Given the description of an element on the screen output the (x, y) to click on. 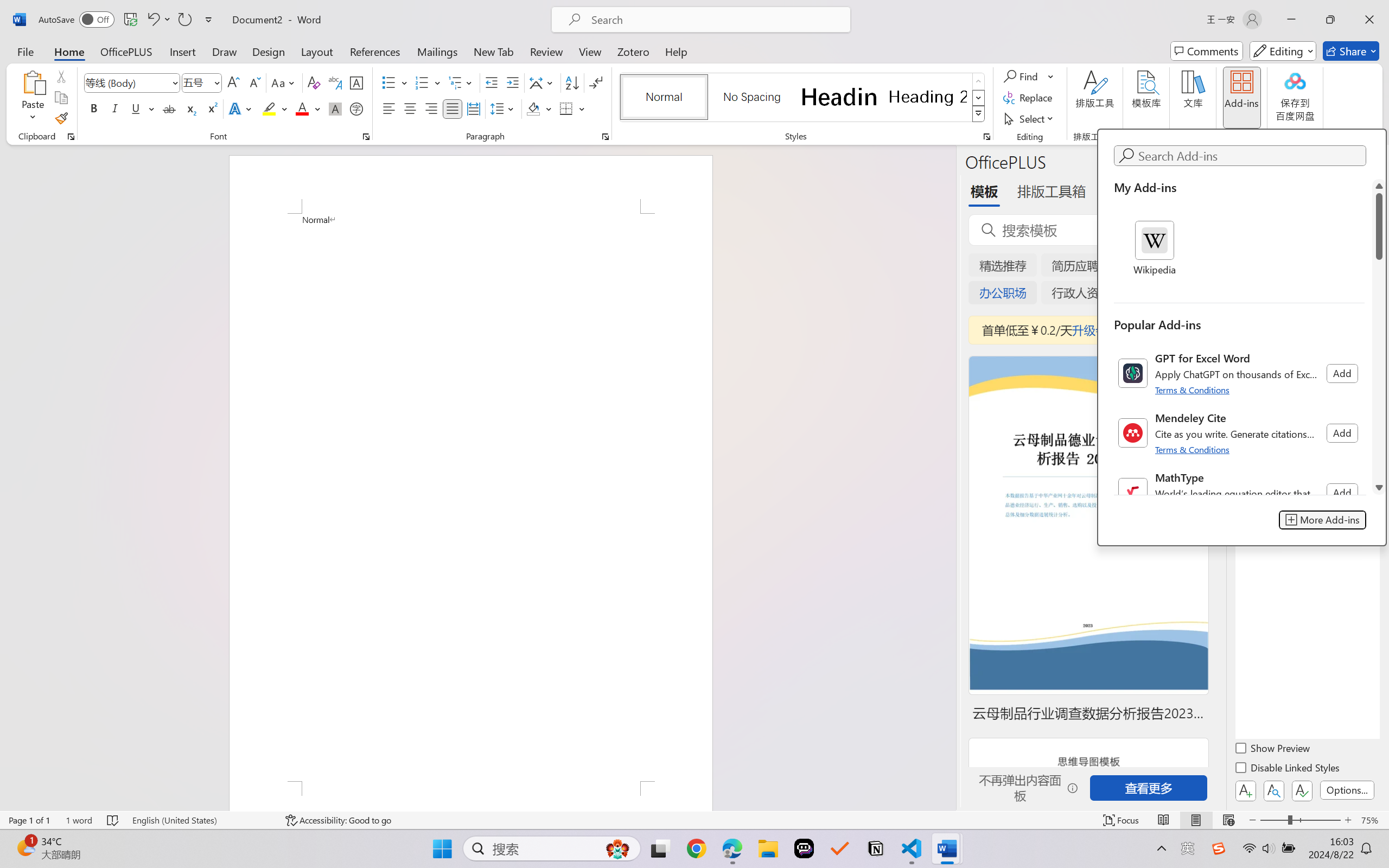
Shrink Font (253, 82)
Poe (804, 848)
Borders (566, 108)
Notion (875, 848)
Asian Layout (542, 82)
Language English (United States) (201, 819)
Show Preview (1273, 749)
Text Highlight Color Yellow (269, 108)
